Given the description of an element on the screen output the (x, y) to click on. 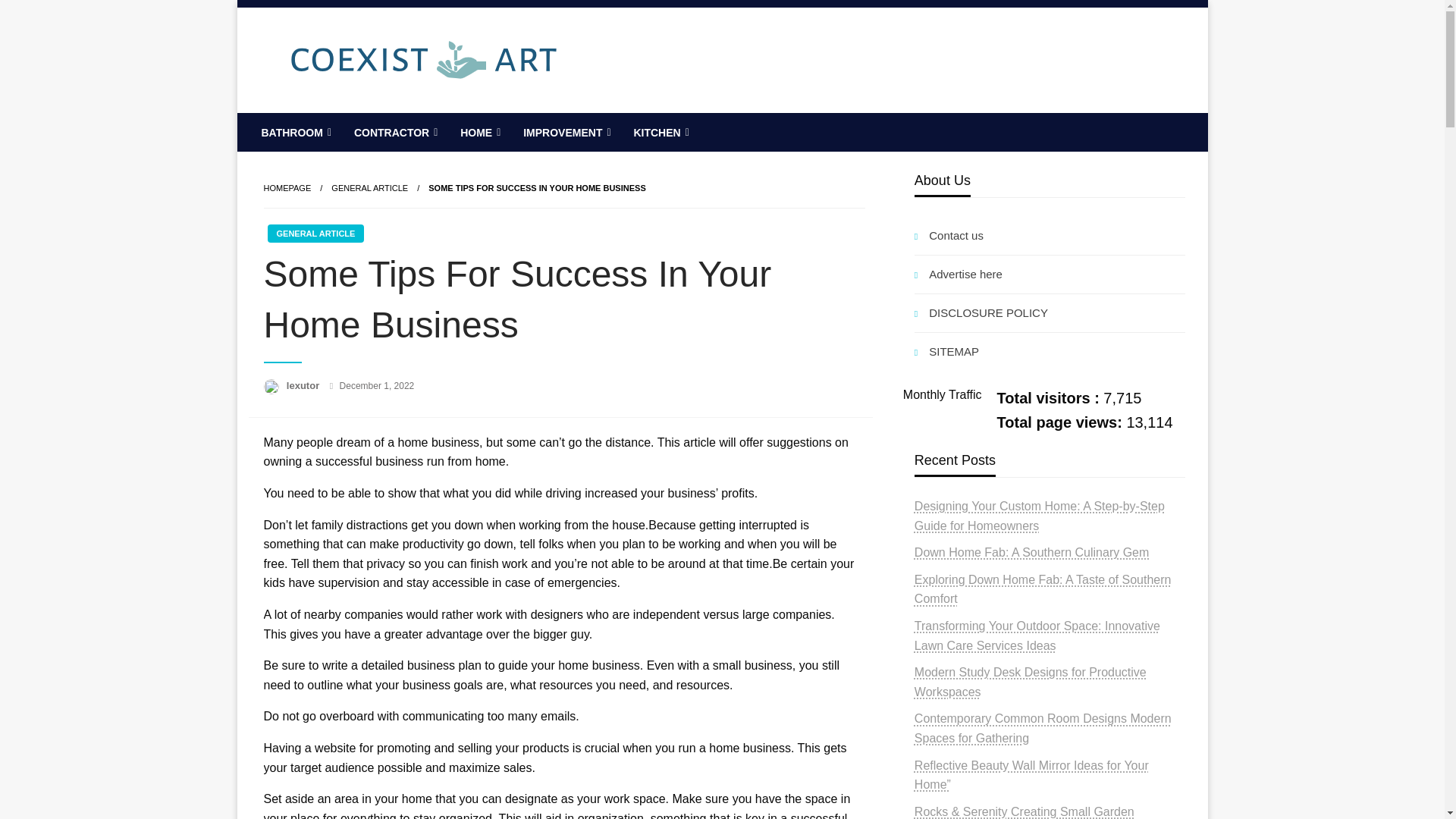
BATHROOM (294, 132)
Some Tips For Success In Your Home Business (536, 187)
lexutor (303, 385)
HOMEPAGE (287, 187)
IMPROVEMENT (565, 132)
Homepage (287, 187)
GENERAL ARTICLE (369, 187)
GENERAL ARTICLE (315, 233)
KITCHEN (659, 132)
coexist art (332, 124)
General Article (369, 187)
December 1, 2022 (376, 385)
lexutor (303, 385)
CONTRACTOR (393, 132)
